Given the description of an element on the screen output the (x, y) to click on. 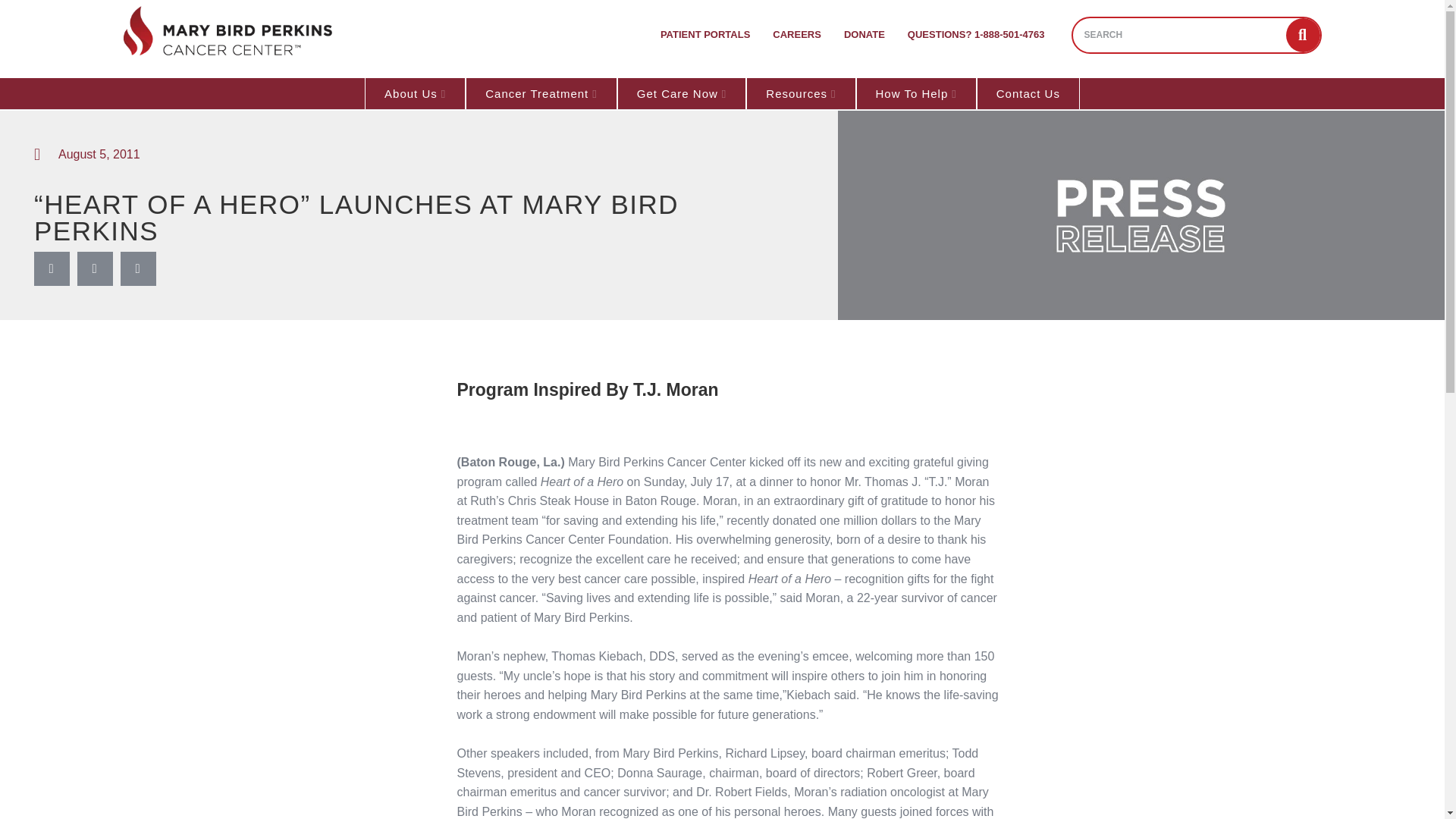
About Us (415, 92)
DONATE (864, 34)
PATIENT PORTALS (705, 34)
CAREERS (796, 34)
QUESTIONS? 1-888-501-4763 (976, 34)
